Given the description of an element on the screen output the (x, y) to click on. 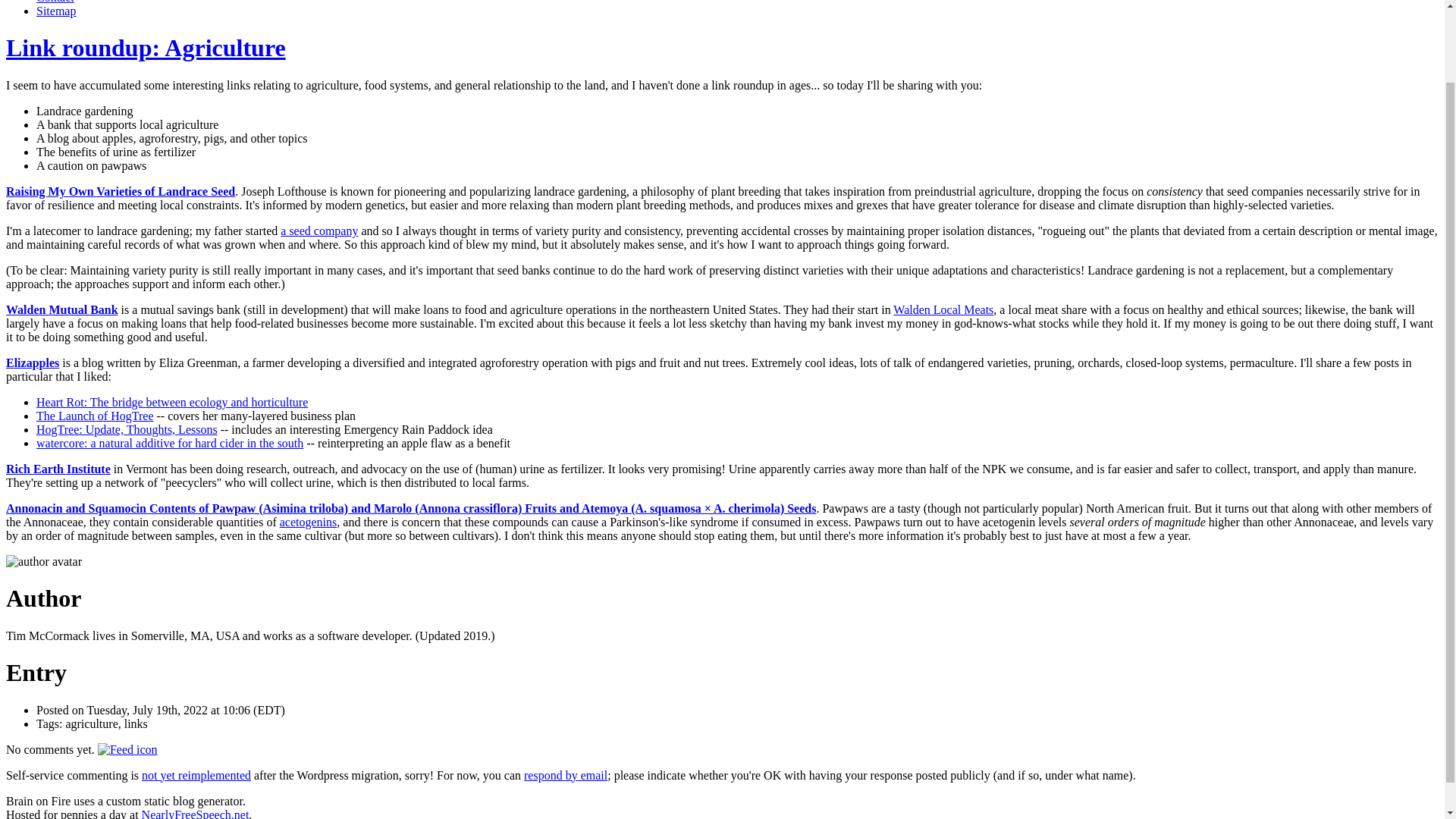
Heart Rot: The bridge between ecology and horticulture (171, 401)
watercore: a natural additive for hard cider in the south (169, 442)
Permanent link for post (145, 47)
not yet reimplemented (195, 775)
Elizapples (32, 362)
acetogenins (308, 521)
Comment feed for this post (127, 748)
Contact information for Tim McCormack (55, 2)
Contact (55, 2)
HogTree: Update, Thoughts, Lessons (126, 429)
